Given the description of an element on the screen output the (x, y) to click on. 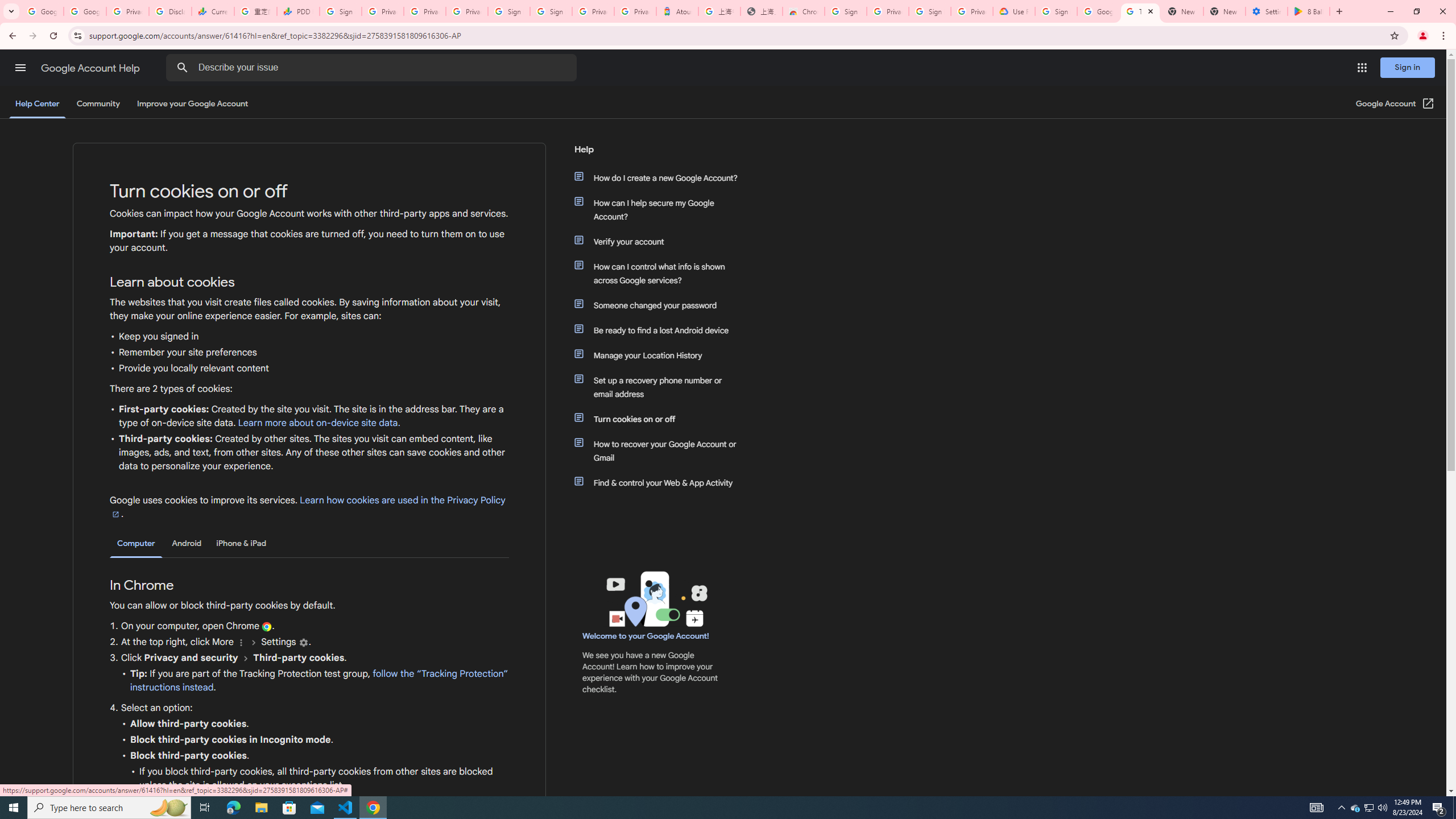
PDD Holdings Inc - ADR (PDD) Price & News - Google Finance (298, 11)
How to recover your Google Account or Gmail (661, 450)
Privacy Checkup (424, 11)
Google Workspace Admin Community (42, 11)
Search Help Center (181, 67)
8 Ball Pool - Apps on Google Play (1308, 11)
How can I control what info is shown across Google services? (661, 273)
Learn how cookies are used in the Privacy Policy (307, 507)
